Given the description of an element on the screen output the (x, y) to click on. 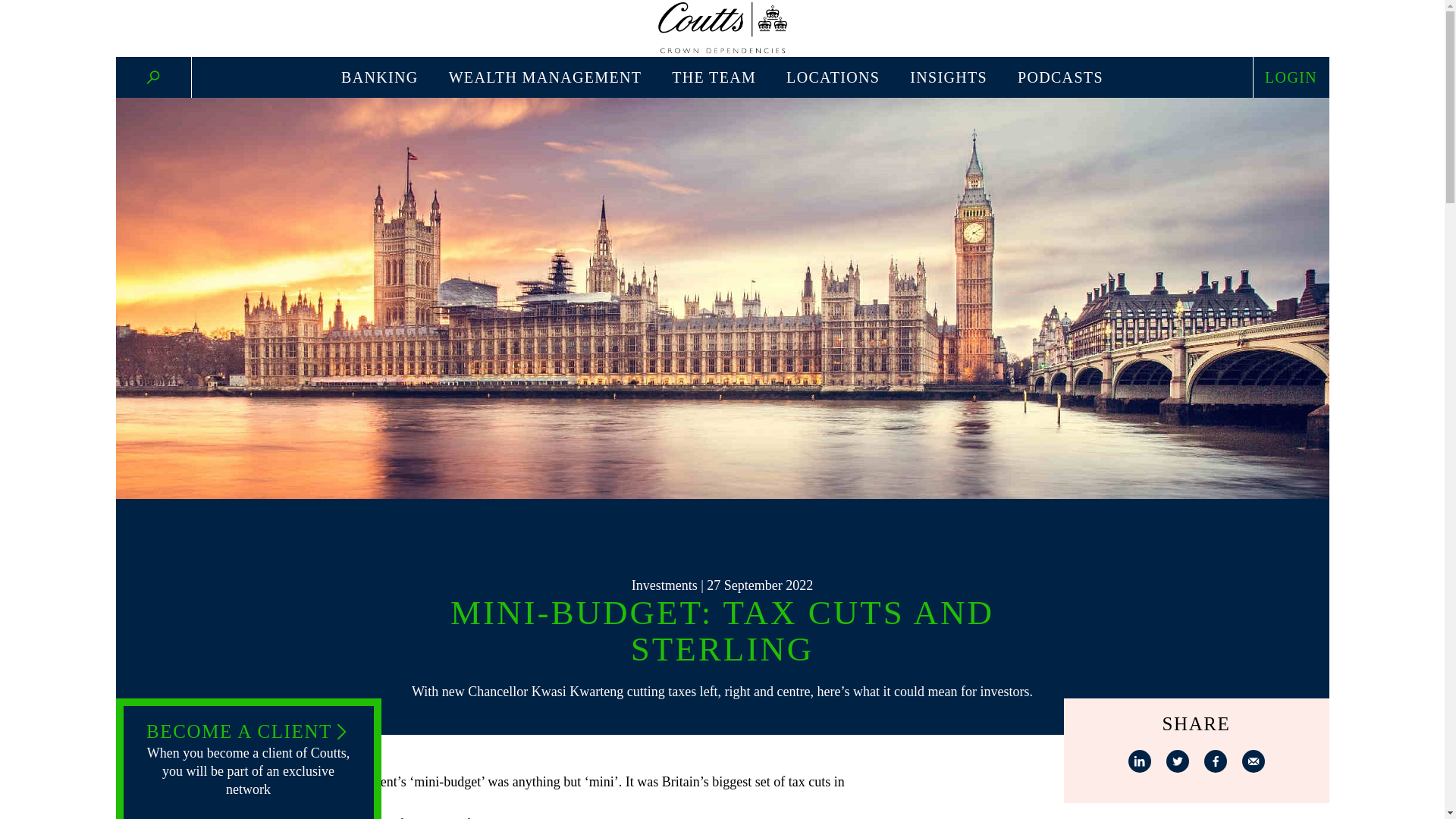
Podcasts (1060, 76)
LOCATIONS (832, 76)
PODCASTS (1060, 76)
Banking (379, 76)
THE TEAM (713, 76)
Wealth Management (545, 76)
Locations (832, 76)
INSIGHTS (948, 76)
BANKING (379, 76)
Insights (948, 76)
WEALTH MANAGEMENT (545, 76)
The Team (713, 76)
